Given the description of an element on the screen output the (x, y) to click on. 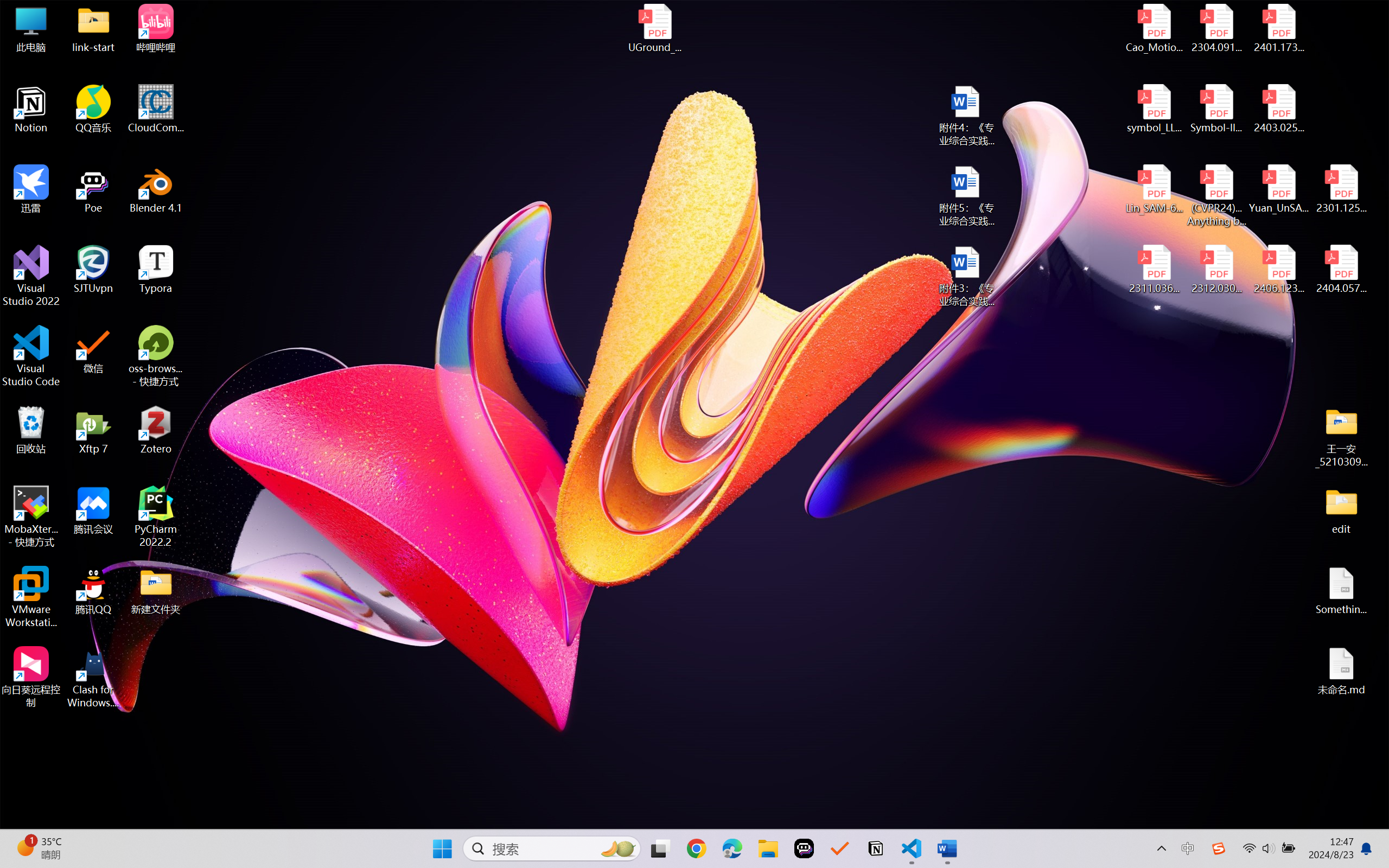
Xftp 7 (93, 430)
Typora (156, 269)
Microsoft Edge (731, 848)
VMware Workstation Pro (31, 597)
